Given the description of an element on the screen output the (x, y) to click on. 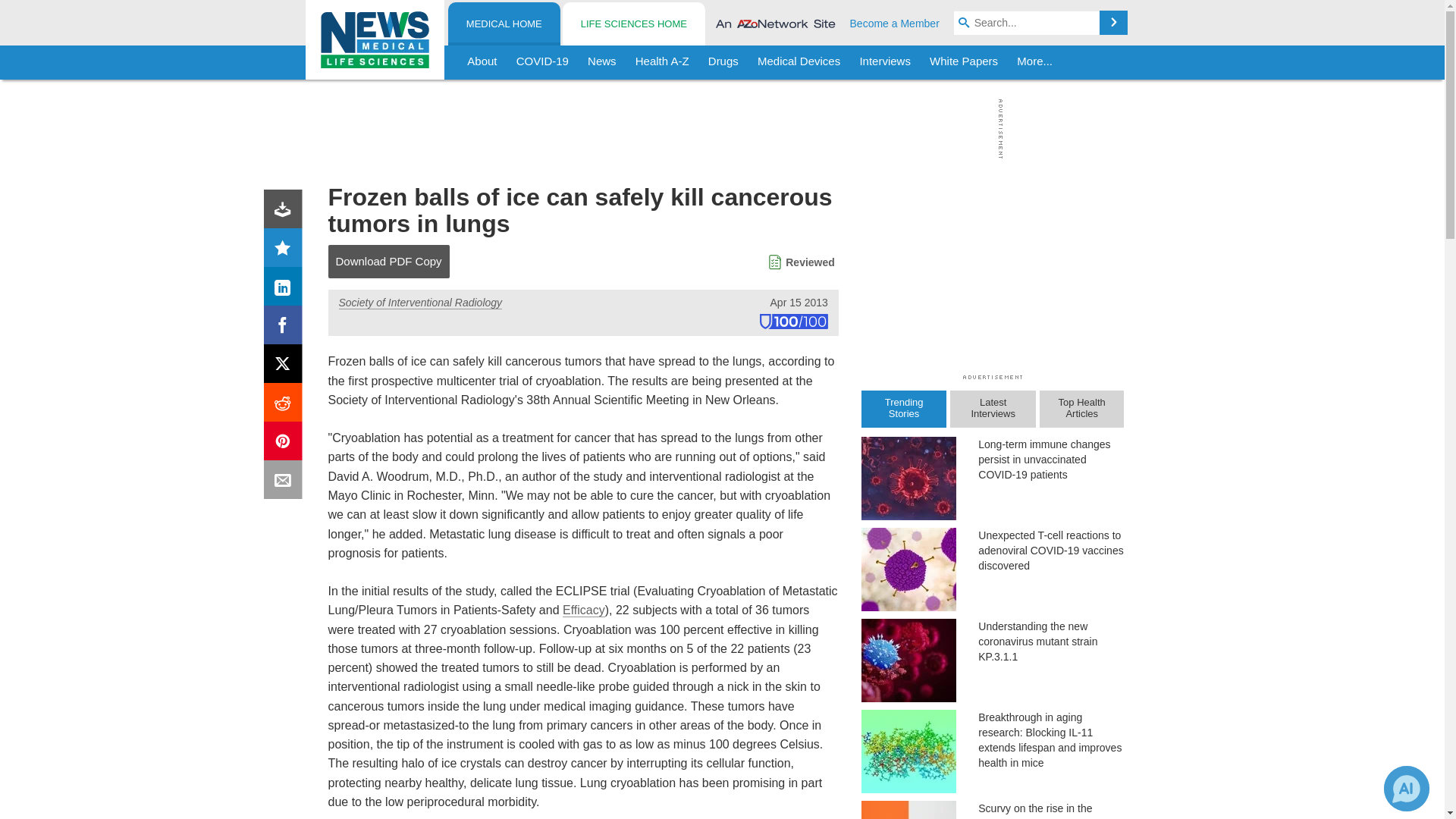
Interviews (884, 62)
Health A-Z (662, 62)
Medical Devices (798, 62)
LinkedIn (285, 289)
Search (1112, 22)
Email (285, 483)
About (482, 62)
Download PDF copy (285, 212)
Reddit (285, 405)
White Papers (963, 62)
Drugs (722, 62)
MEDICAL HOME (504, 23)
Become a Member (894, 22)
Rating (285, 250)
